Given the description of an element on the screen output the (x, y) to click on. 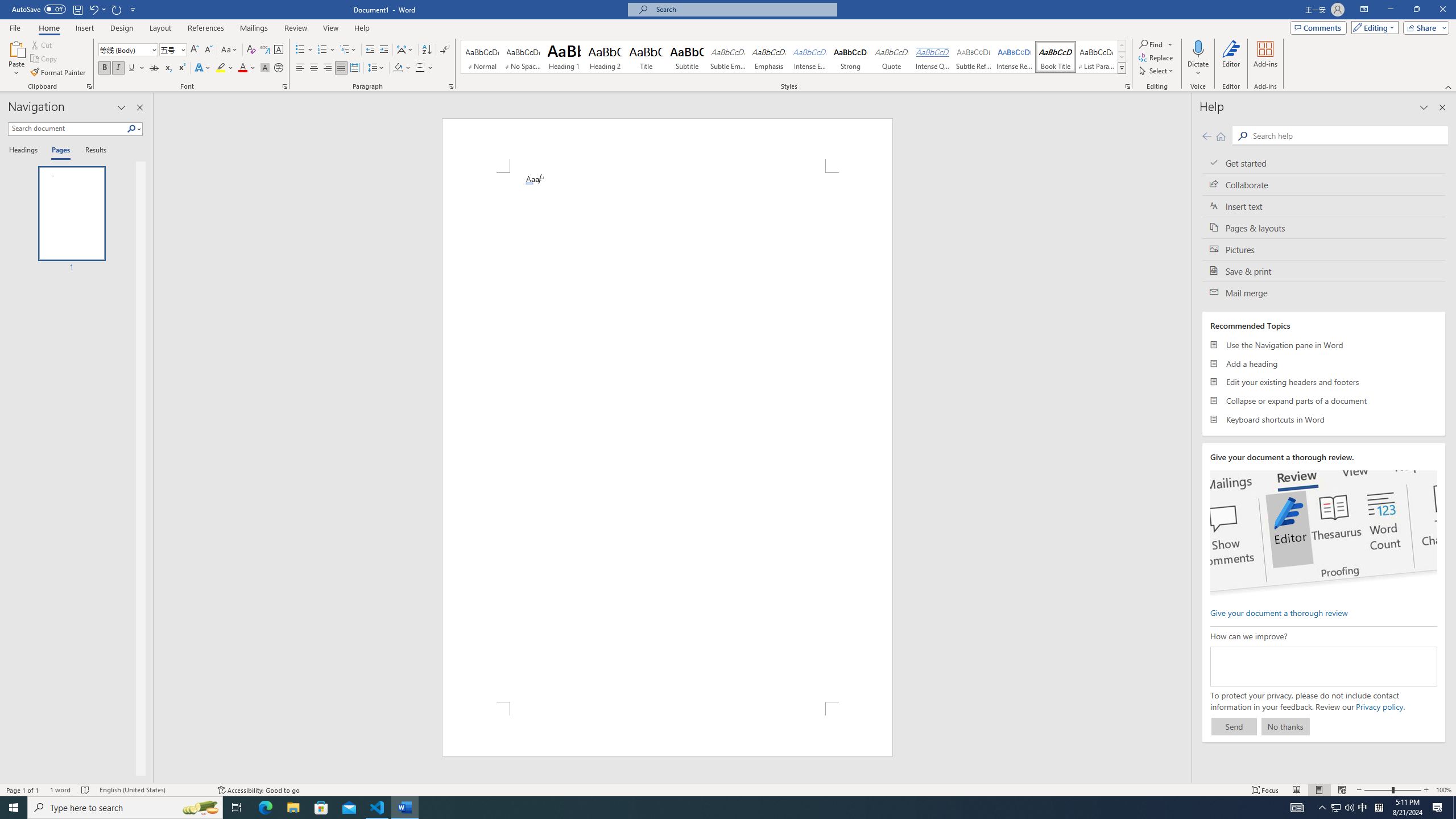
Title (646, 56)
Add a heading (1323, 363)
